Given the description of an element on the screen output the (x, y) to click on. 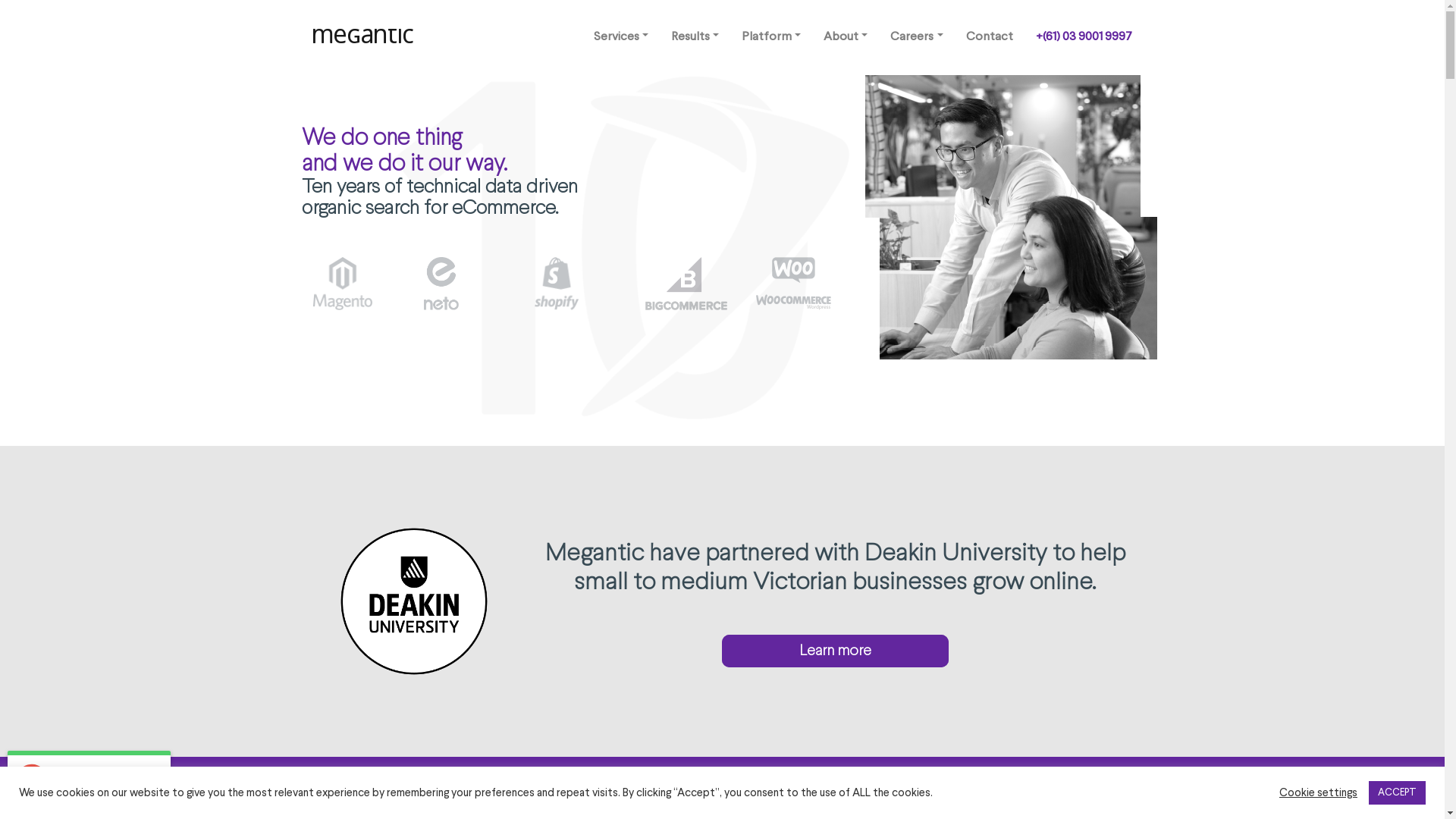
Platform Element type: text (771, 37)
Services Element type: text (620, 37)
megantic Element type: text (363, 37)
About Element type: text (845, 37)
Learn more Element type: text (834, 650)
ACCEPT Element type: text (1396, 792)
Careers Element type: text (915, 37)
+(61) 03 9001 9997 Element type: text (1082, 37)
Cookie settings Element type: text (1318, 792)
Contact Element type: text (988, 37)
Results Element type: text (694, 37)
